Given the description of an element on the screen output the (x, y) to click on. 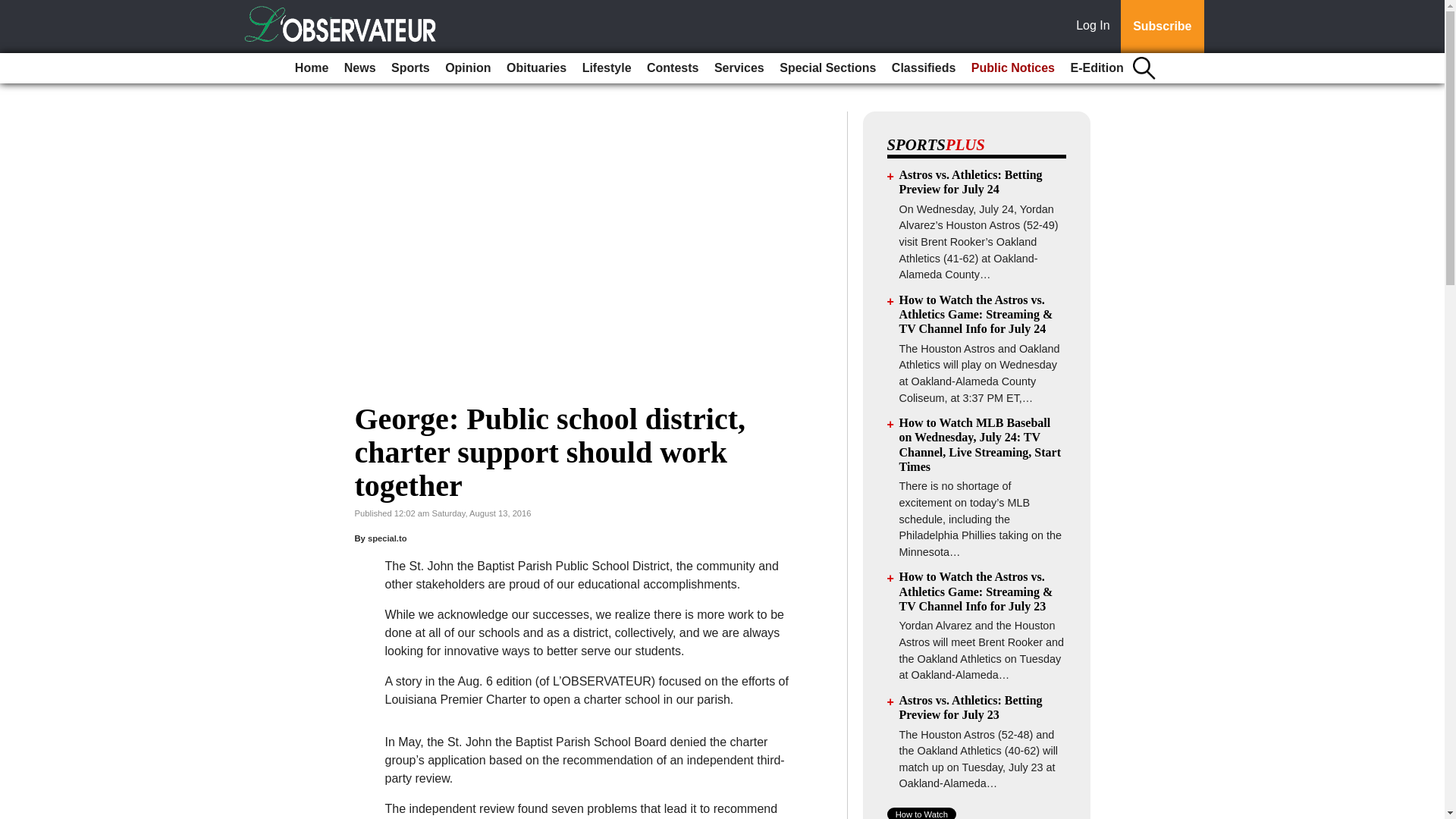
special.to (387, 537)
Astros vs. Athletics: Betting Preview for July 23 (970, 707)
Opinion (467, 68)
Special Sections (827, 68)
Obituaries (536, 68)
Contests (672, 68)
Public Notices (1013, 68)
News (359, 68)
How to Watch (921, 813)
Home (311, 68)
Lifestyle (606, 68)
E-Edition (1096, 68)
Go (13, 9)
Classifieds (922, 68)
